Given the description of an element on the screen output the (x, y) to click on. 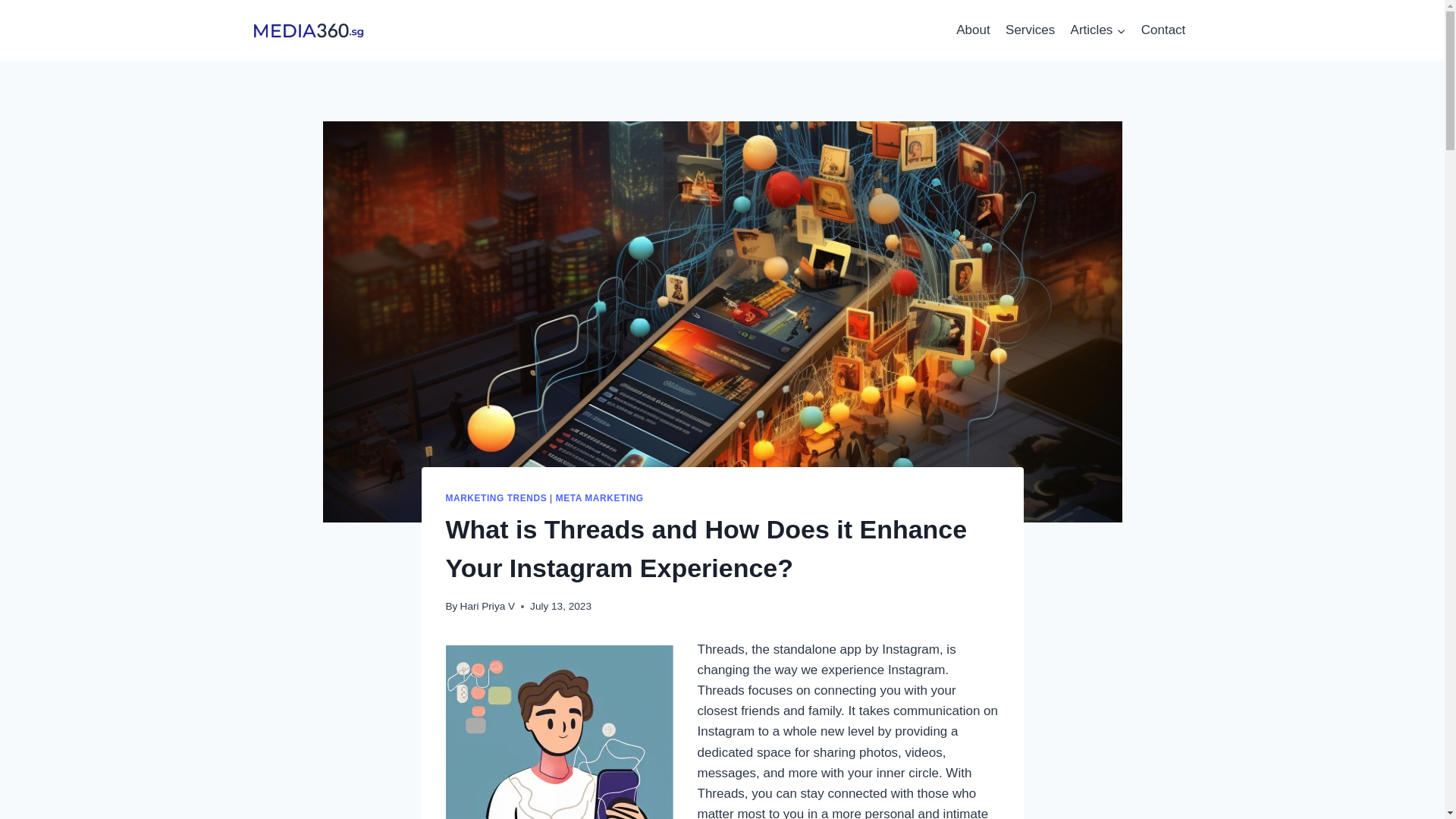
META MARKETING (599, 498)
Contact (1163, 30)
Articles (1097, 30)
MARKETING TRENDS (496, 498)
Hari Priya V (487, 605)
Services (1029, 30)
About (973, 30)
